Given the description of an element on the screen output the (x, y) to click on. 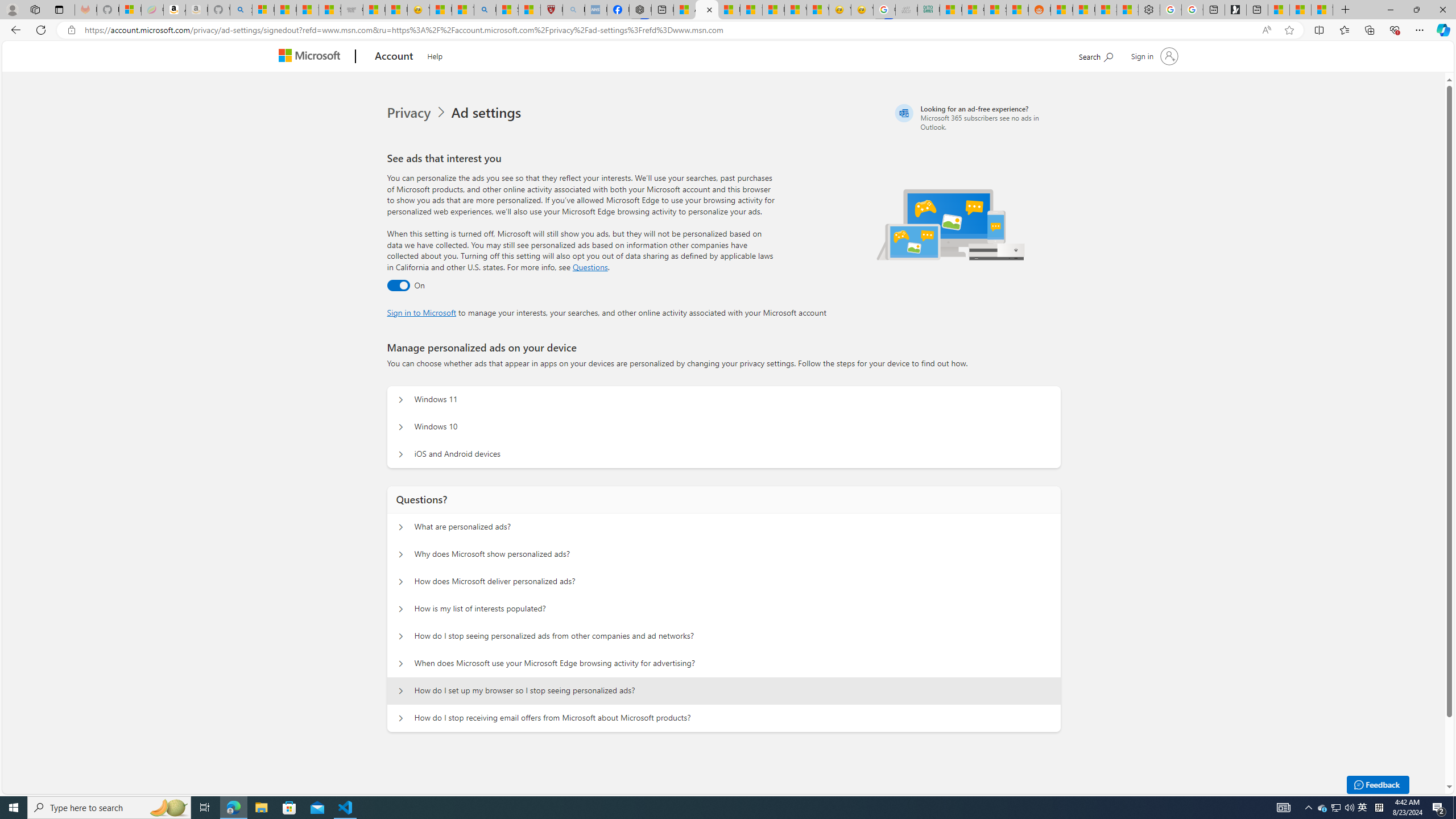
Questions? What are personalized ads? (401, 526)
Account (394, 56)
Looking for an ad-free experience? (976, 117)
